Given the description of an element on the screen output the (x, y) to click on. 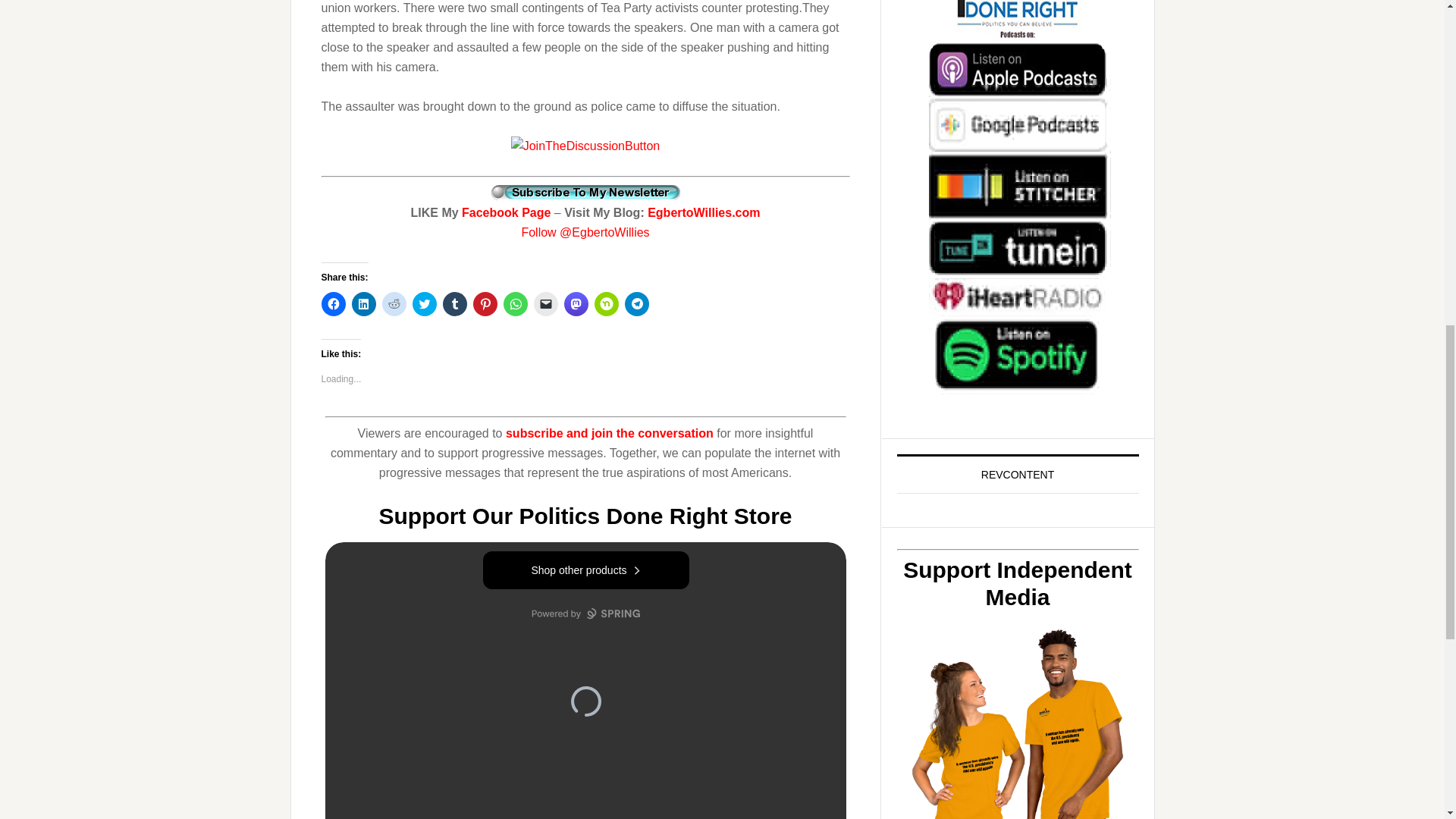
Click to share on LinkedIn (363, 303)
Click to share on Mastodon (576, 303)
Click to share on WhatsApp (515, 303)
Click to share on Twitter (424, 303)
Click to share on Pinterest (485, 303)
Click to share on Reddit (393, 303)
Click to share on Tumblr (454, 303)
Click to share on Facebook (333, 303)
JoinTheDiscussionButton (586, 146)
